Given the description of an element on the screen output the (x, y) to click on. 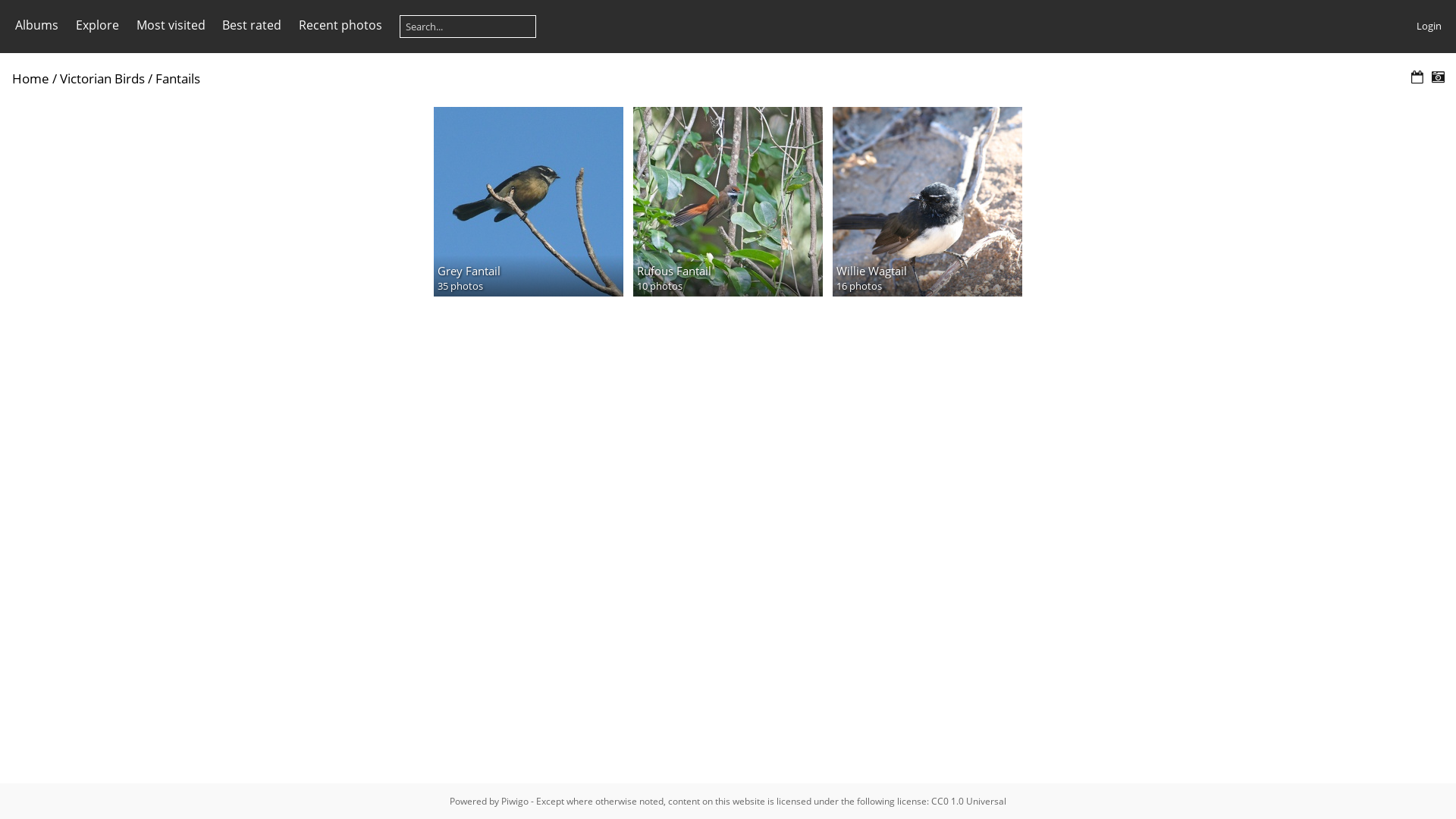
Best rated Element type: text (251, 24)
Recent photos Element type: text (340, 24)
display a calendar by posted date Element type: hover (1417, 77)
Most visited Element type: text (170, 24)
Piwigo Element type: text (514, 800)
display a calendar by creation date Element type: hover (1437, 77)
Willie Wagtail
16 photos Element type: text (927, 201)
Explore Element type: text (97, 24)
Albums Element type: text (36, 24)
Victorian Birds Element type: text (101, 78)
Fantails Element type: text (177, 78)
Grey Fantail
35 photos Element type: text (528, 201)
Rufous Fantail
10 photos Element type: text (727, 201)
CC0 1.0 Universal Element type: text (968, 800)
Home Element type: text (30, 78)
Login Element type: text (1428, 25)
